Given the description of an element on the screen output the (x, y) to click on. 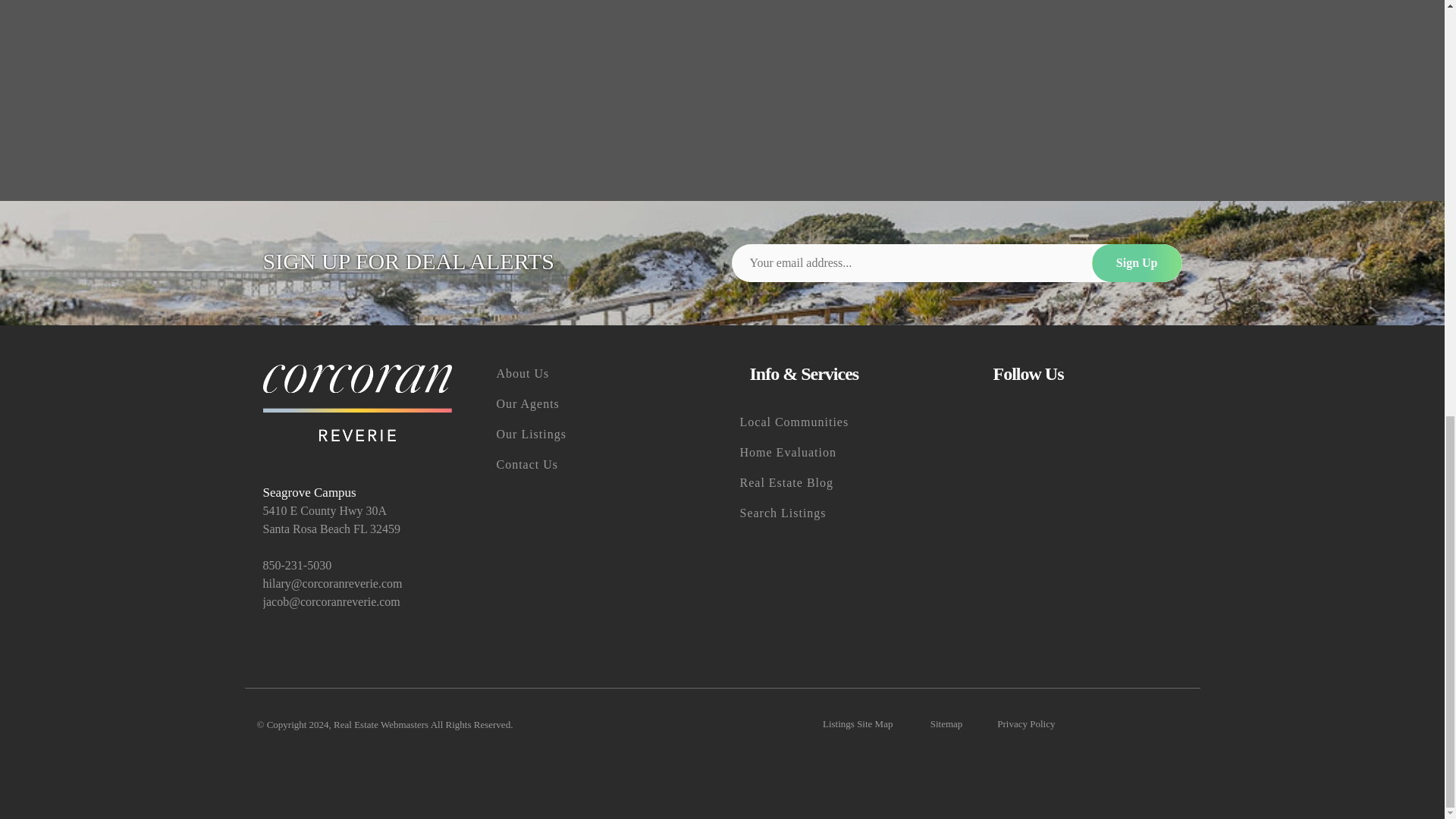
Site Logo (356, 402)
